Given the description of an element on the screen output the (x, y) to click on. 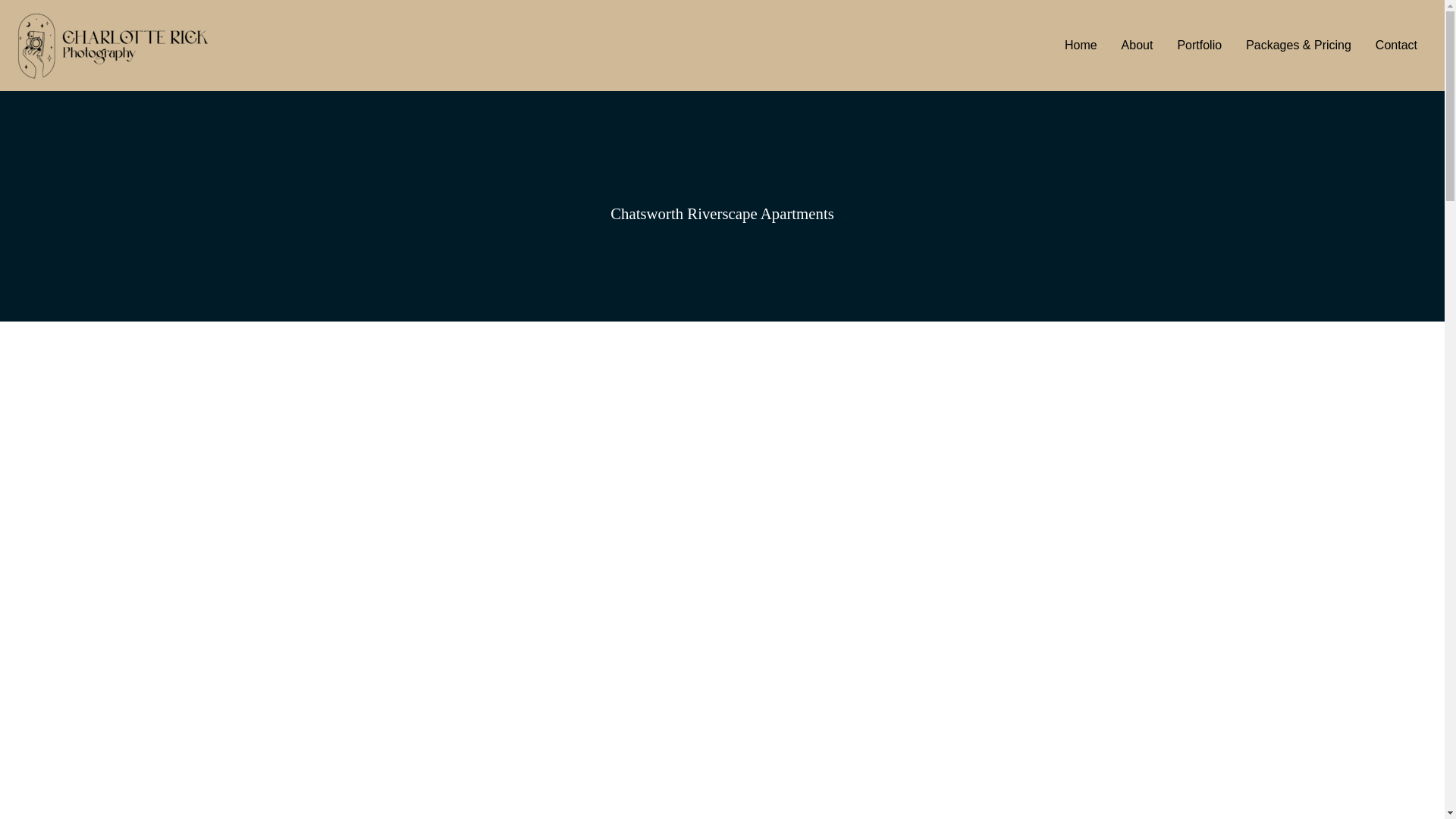
Home (1080, 45)
Contact (1395, 45)
About (1137, 45)
Portfolio (1198, 45)
